Given the description of an element on the screen output the (x, y) to click on. 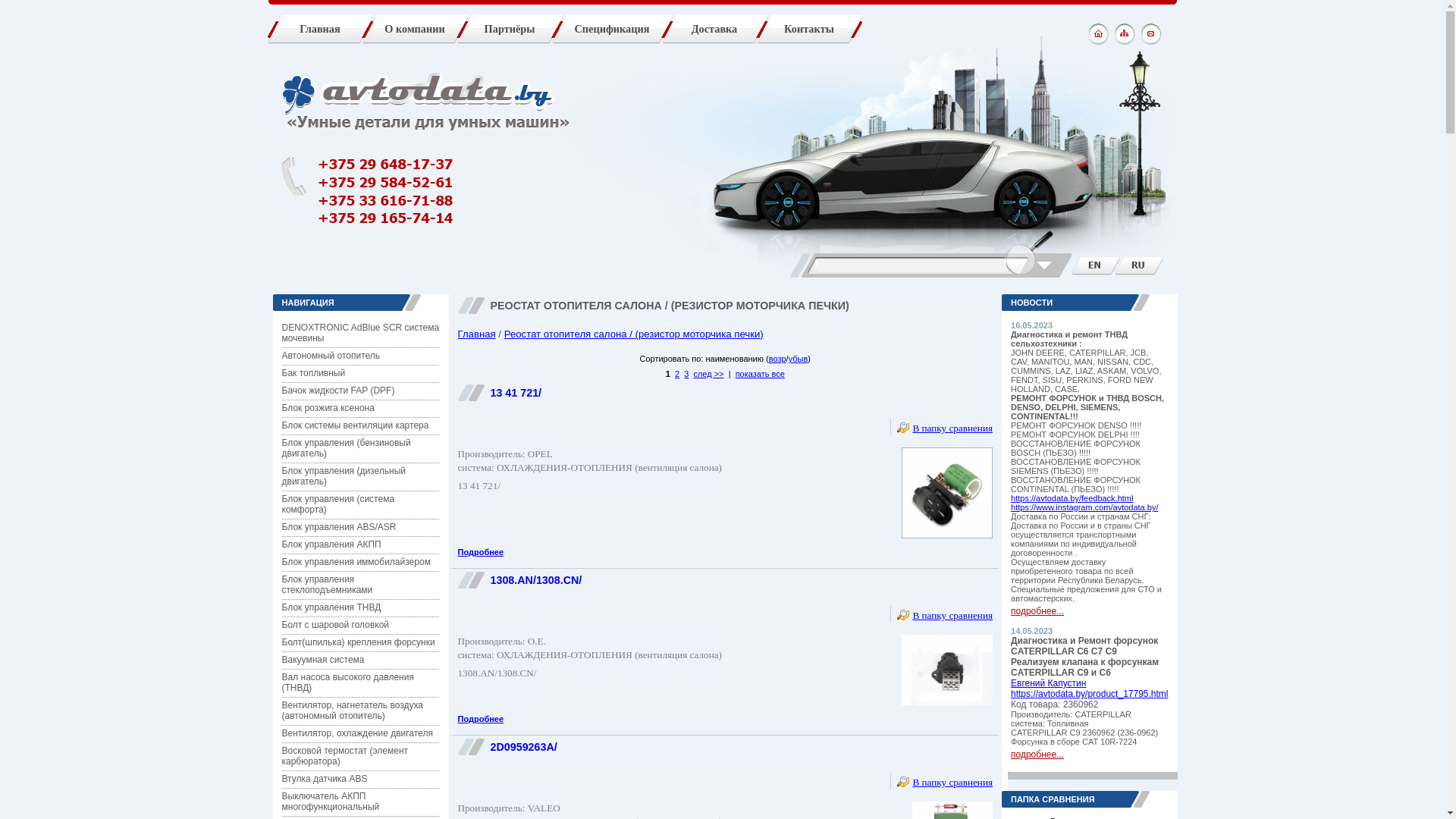
1308.AN/1308.CN/ Element type: text (535, 580)
13 41 721/ Element type: text (515, 392)
2 Element type: text (676, 373)
3 Element type: text (686, 373)
https://www.instagram.com/avtodata.by/ Element type: text (1083, 506)
2D0959263A/ Element type: text (522, 746)
https://avtodata.by/feedback.html Element type: text (1071, 497)
avtodata.by Element type: hover (418, 94)
https://avtodata.by/product_17795.html Element type: text (1088, 693)
